Given the description of an element on the screen output the (x, y) to click on. 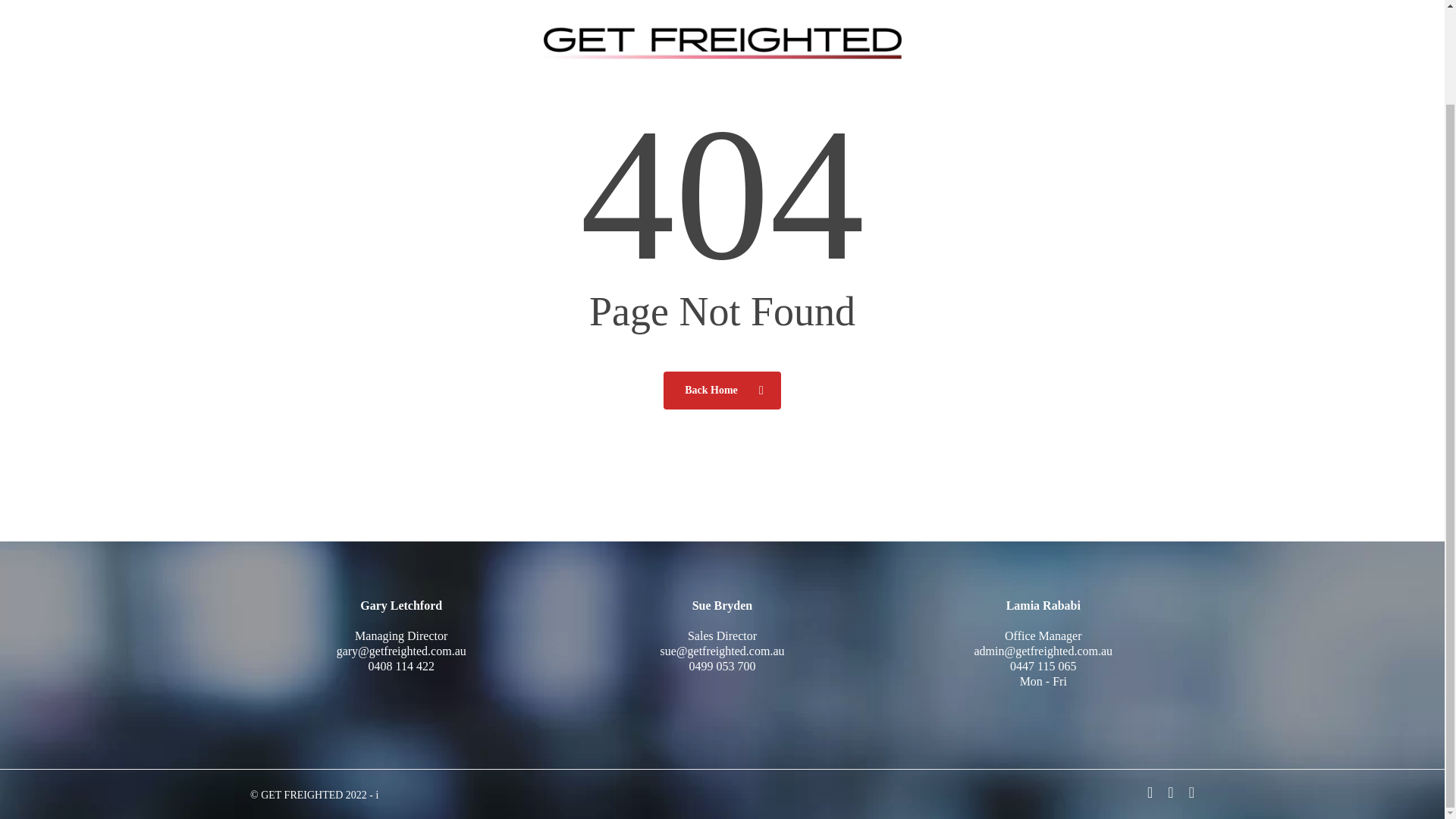
0447 115 065 (1042, 666)
0499 053 700 (721, 666)
i (376, 794)
0408 114 422 (400, 666)
Back Home (721, 389)
